Given the description of an element on the screen output the (x, y) to click on. 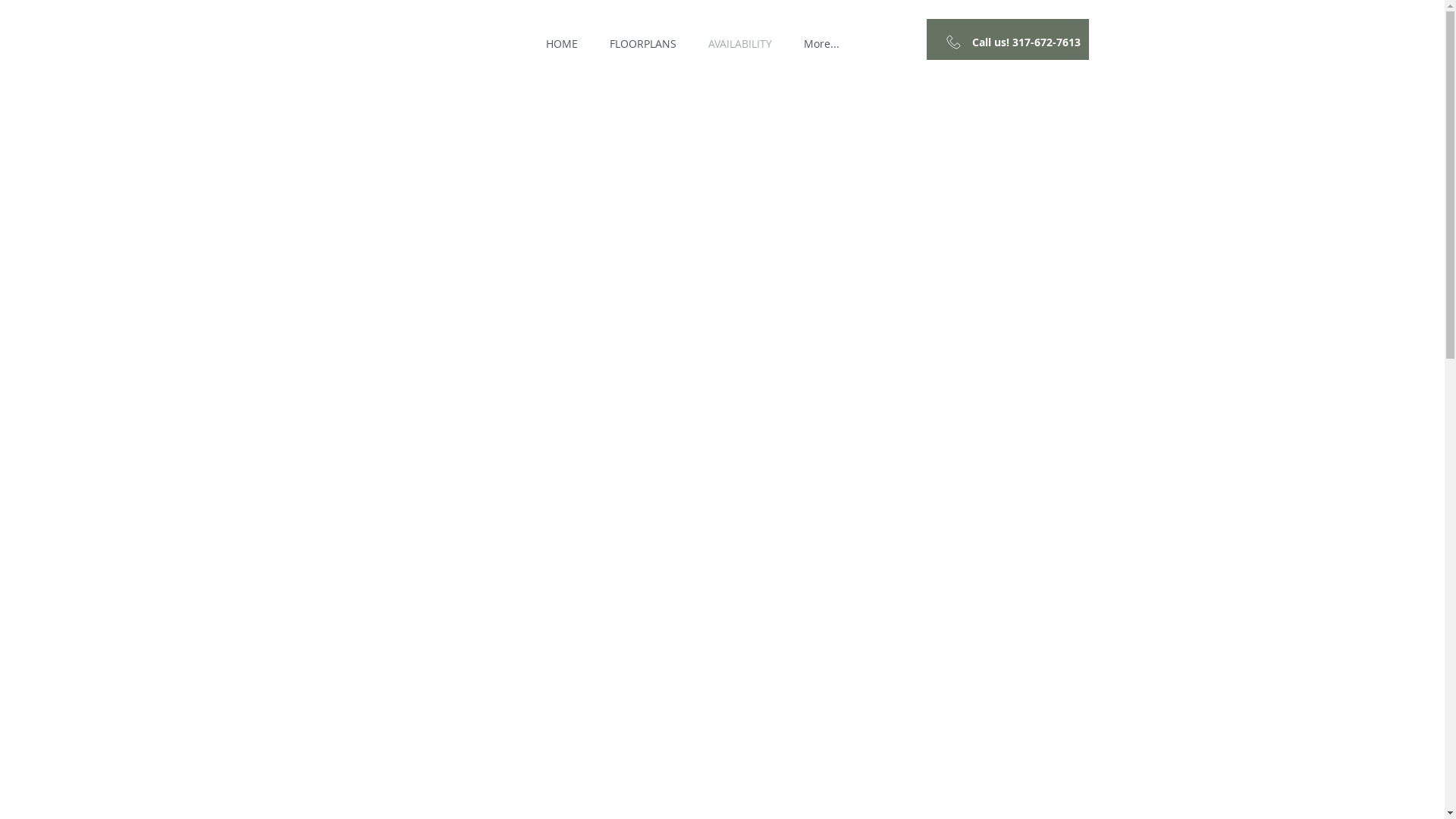
FLOORPLANS Element type: text (642, 43)
AVAILABILITY Element type: text (739, 43)
HOME Element type: text (561, 43)
